Given the description of an element on the screen output the (x, y) to click on. 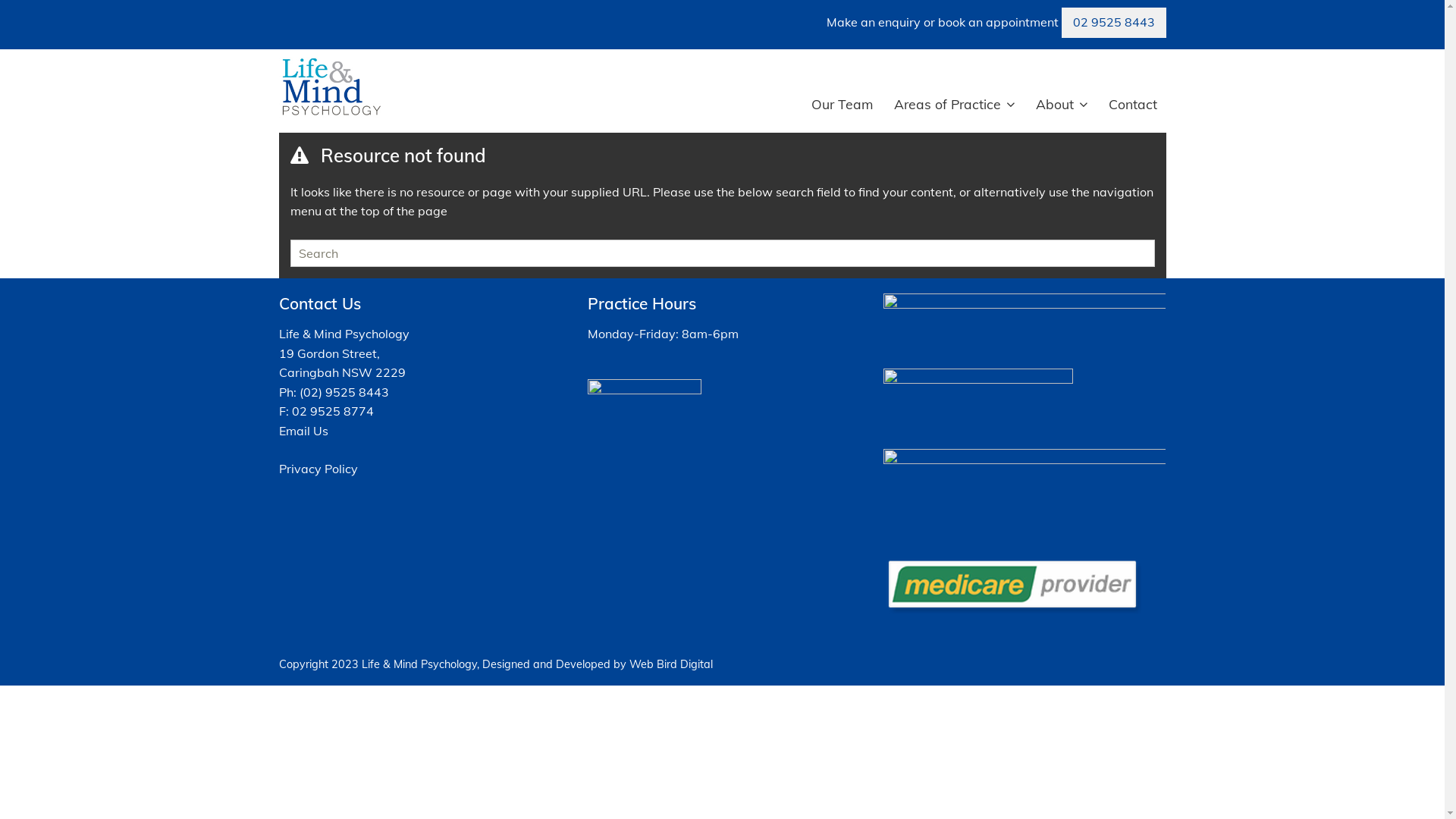
About Element type: text (1061, 103)
Contact Element type: text (1132, 103)
Areas of Practice Element type: text (953, 103)
Our Team Element type: text (841, 103)
Back to Life & Mind Psychology homepage Element type: hover (330, 86)
(02) 9525 8443 Element type: text (343, 391)
Search for: Element type: hover (721, 252)
02 9525 8443 Element type: text (1113, 22)
Privacy Policy Element type: text (318, 468)
Web Bird Digital Element type: text (670, 664)
Email Us Element type: text (303, 430)
